Given the description of an element on the screen output the (x, y) to click on. 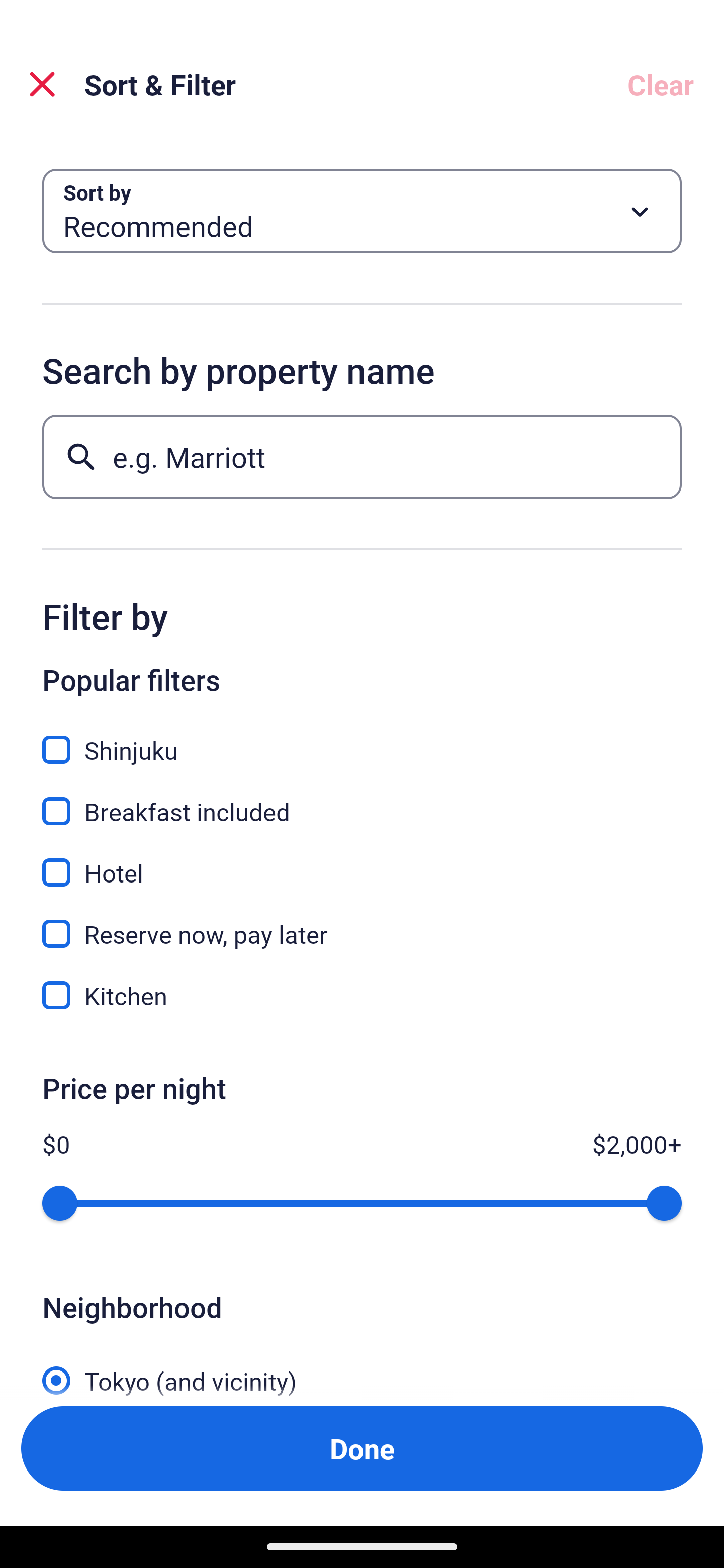
Close Sort and Filter (42, 84)
Clear (660, 84)
Sort by Button Recommended (361, 211)
e.g. Marriott Button (361, 455)
Shinjuku, Shinjuku (361, 738)
Breakfast included, Breakfast included (361, 800)
Hotel, Hotel (361, 861)
Reserve now, pay later, Reserve now, pay later (361, 922)
Kitchen, Kitchen (361, 995)
Apply and close Sort and Filter Done (361, 1448)
